Given the description of an element on the screen output the (x, y) to click on. 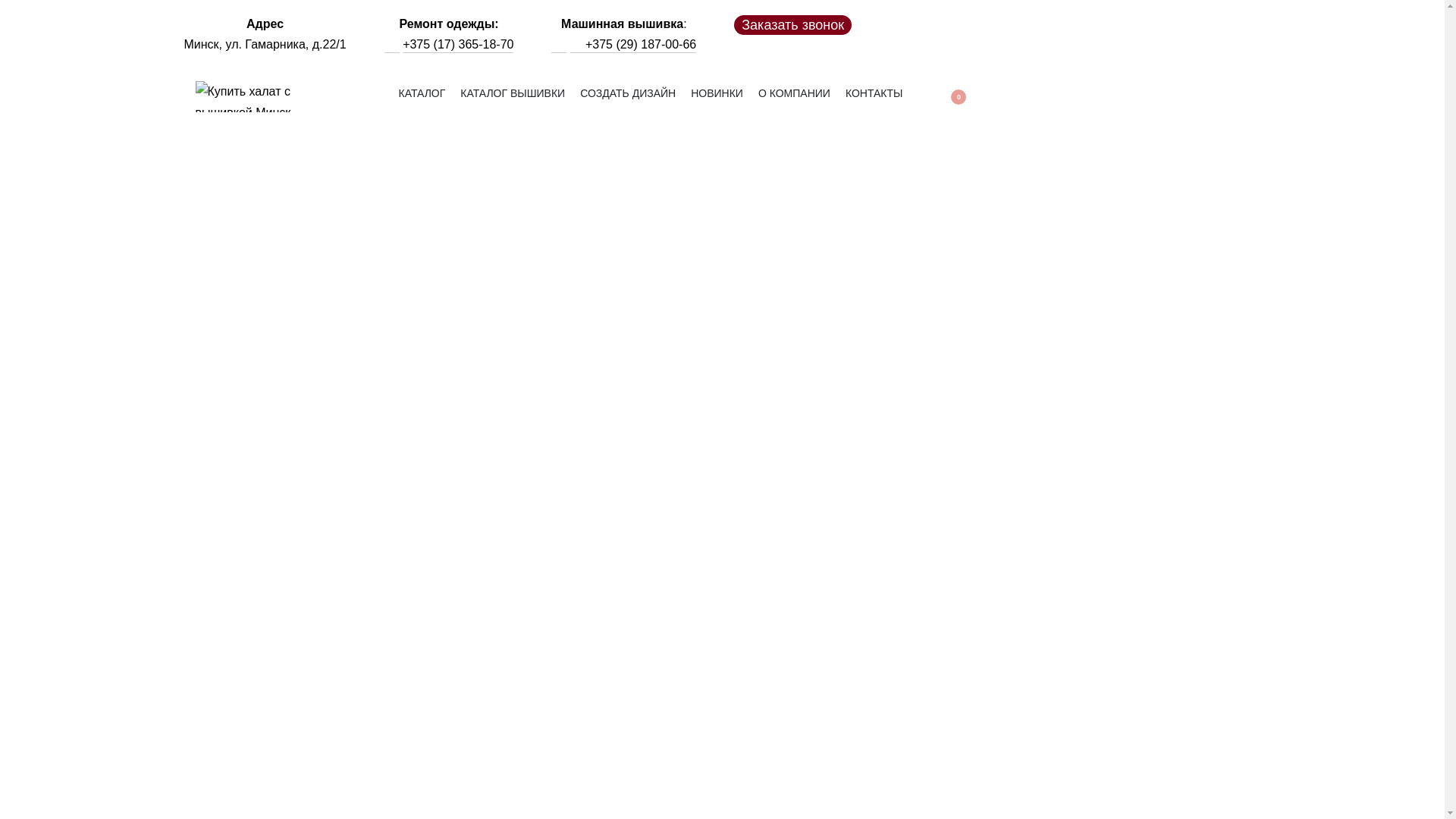
+375 (29) 187-00-66 Element type: text (640, 44)
+375 (17) 365-18-70 Element type: text (457, 44)
0 Element type: text (949, 96)
